Given the description of an element on the screen output the (x, y) to click on. 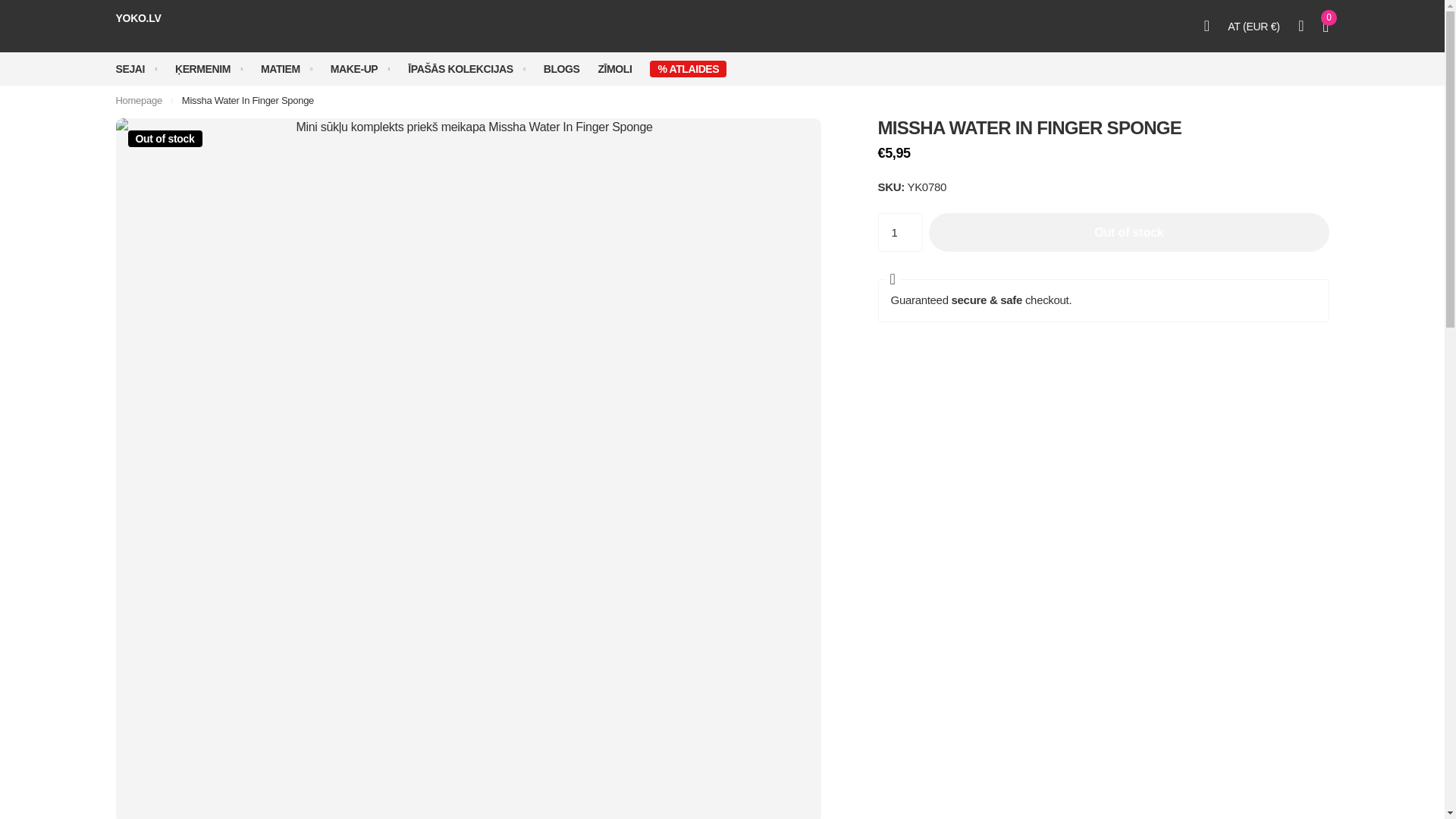
1 (900, 231)
Home (138, 100)
